Given the description of an element on the screen output the (x, y) to click on. 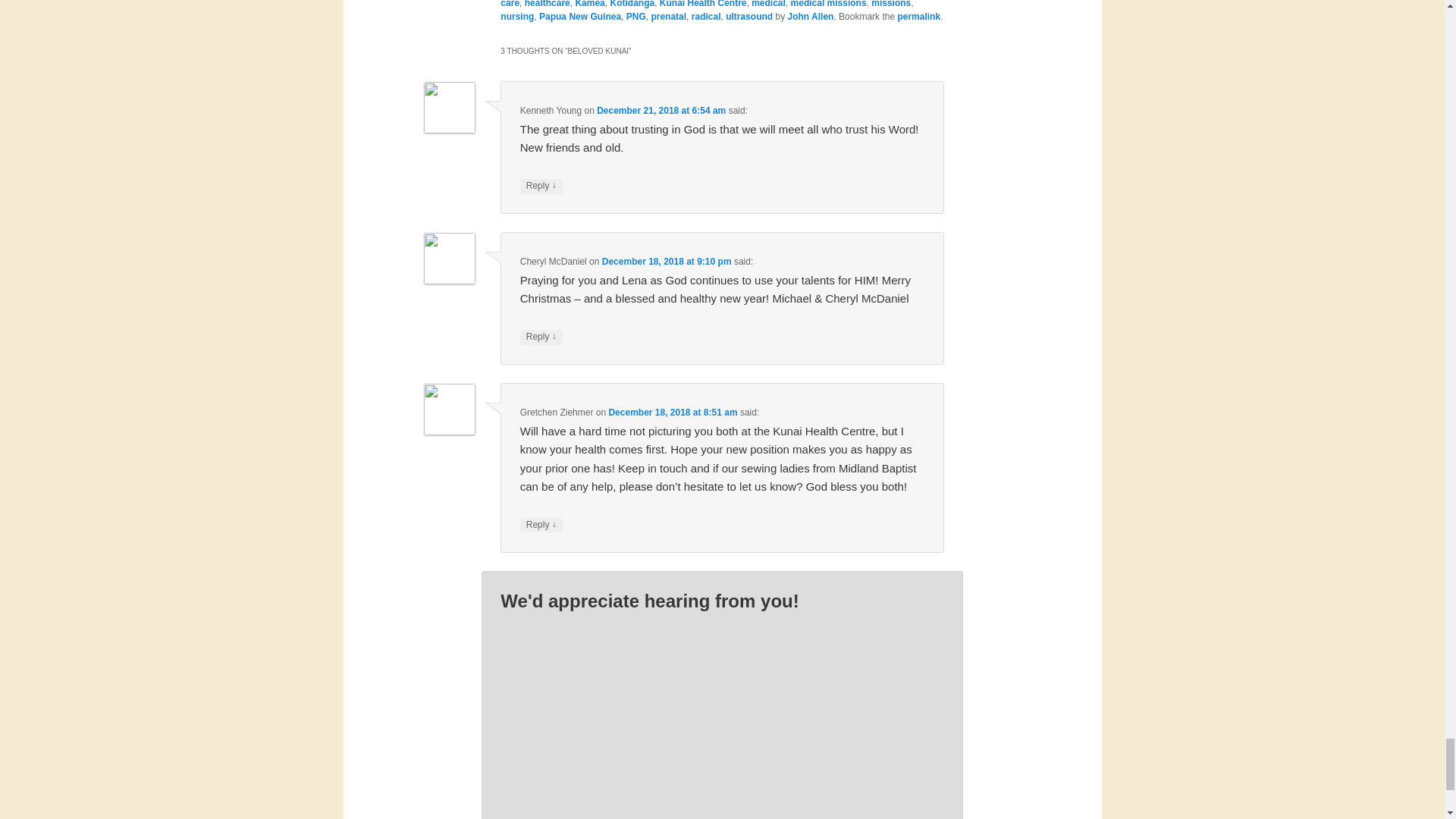
health care (717, 4)
missions (890, 4)
medical (768, 4)
Permalink to Beloved Kunai (918, 16)
healthcare (547, 4)
Kunai Health Centre (702, 4)
medical missions (828, 4)
Kotidanga (631, 4)
Kamea (589, 4)
Comment Form (721, 716)
